Given the description of an element on the screen output the (x, y) to click on. 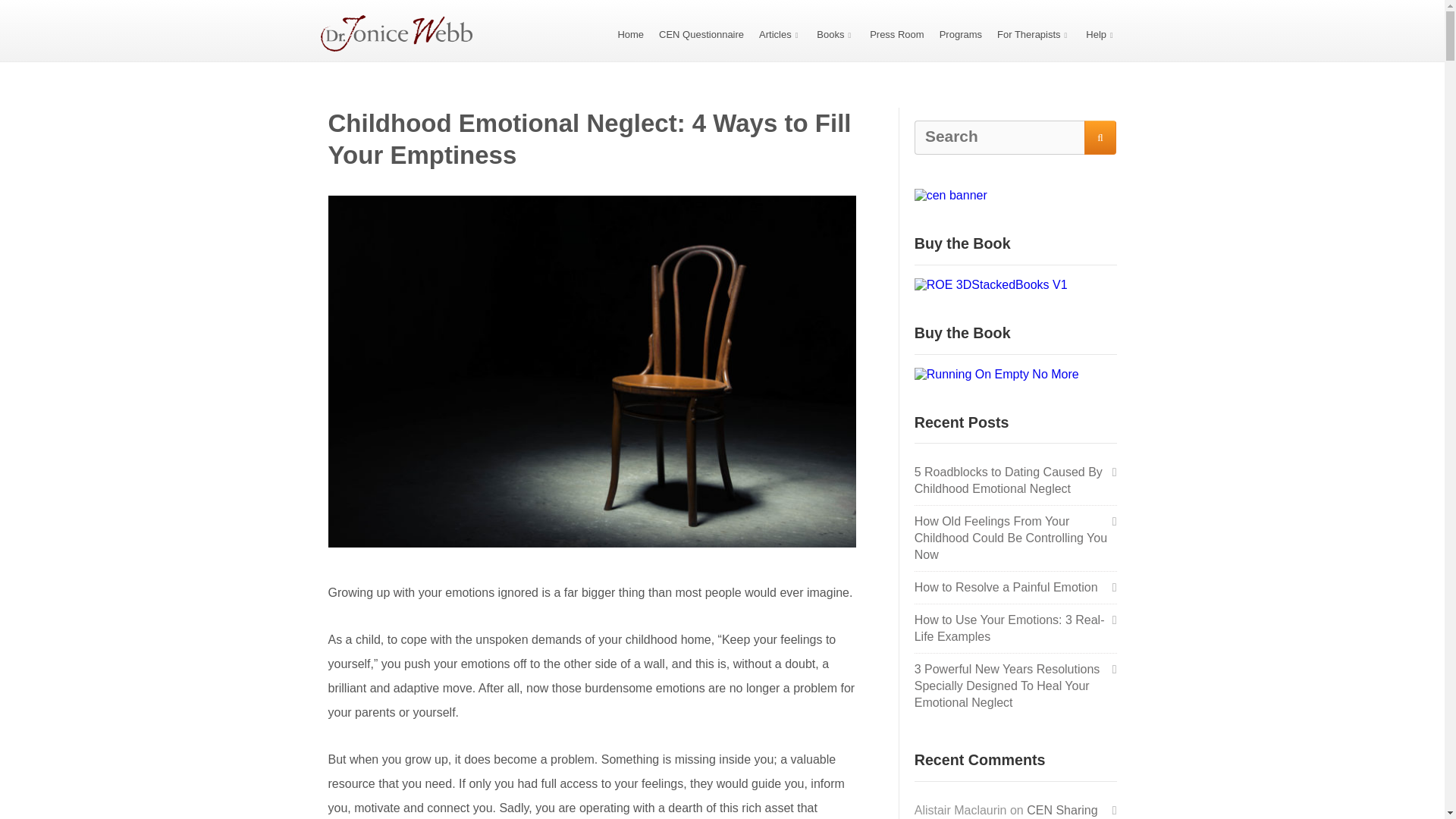
Help (1101, 34)
Home (630, 34)
Books (835, 34)
Articles (780, 34)
For Therapists (1033, 34)
Programs (960, 34)
Press Room (896, 34)
CEN Questionnaire (701, 34)
